Given the description of an element on the screen output the (x, y) to click on. 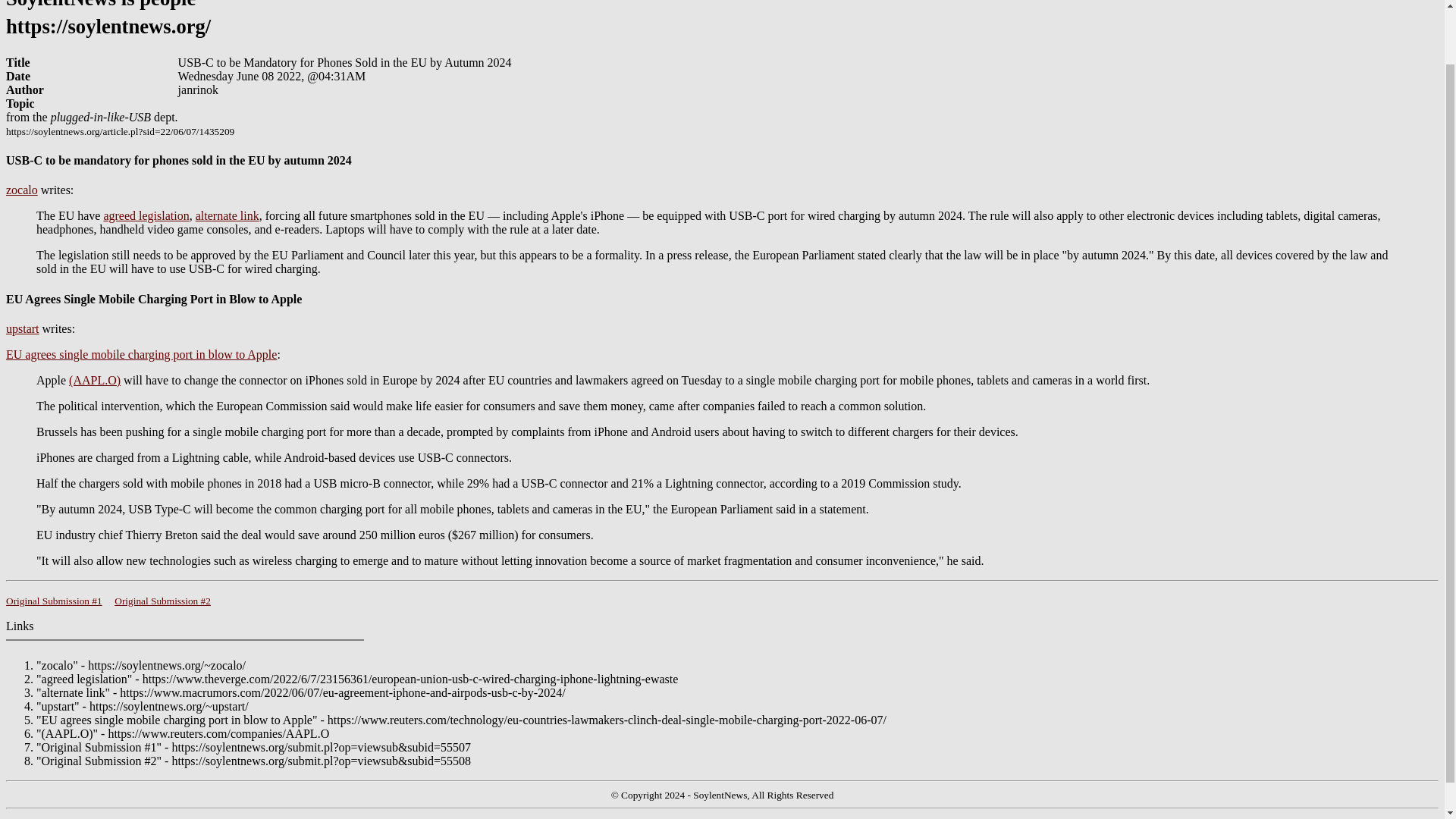
upstart (22, 328)
EU agrees single mobile charging port in blow to Apple (140, 354)
alternate link (227, 215)
agreed legislation (146, 215)
zocalo (21, 189)
